Given the description of an element on the screen output the (x, y) to click on. 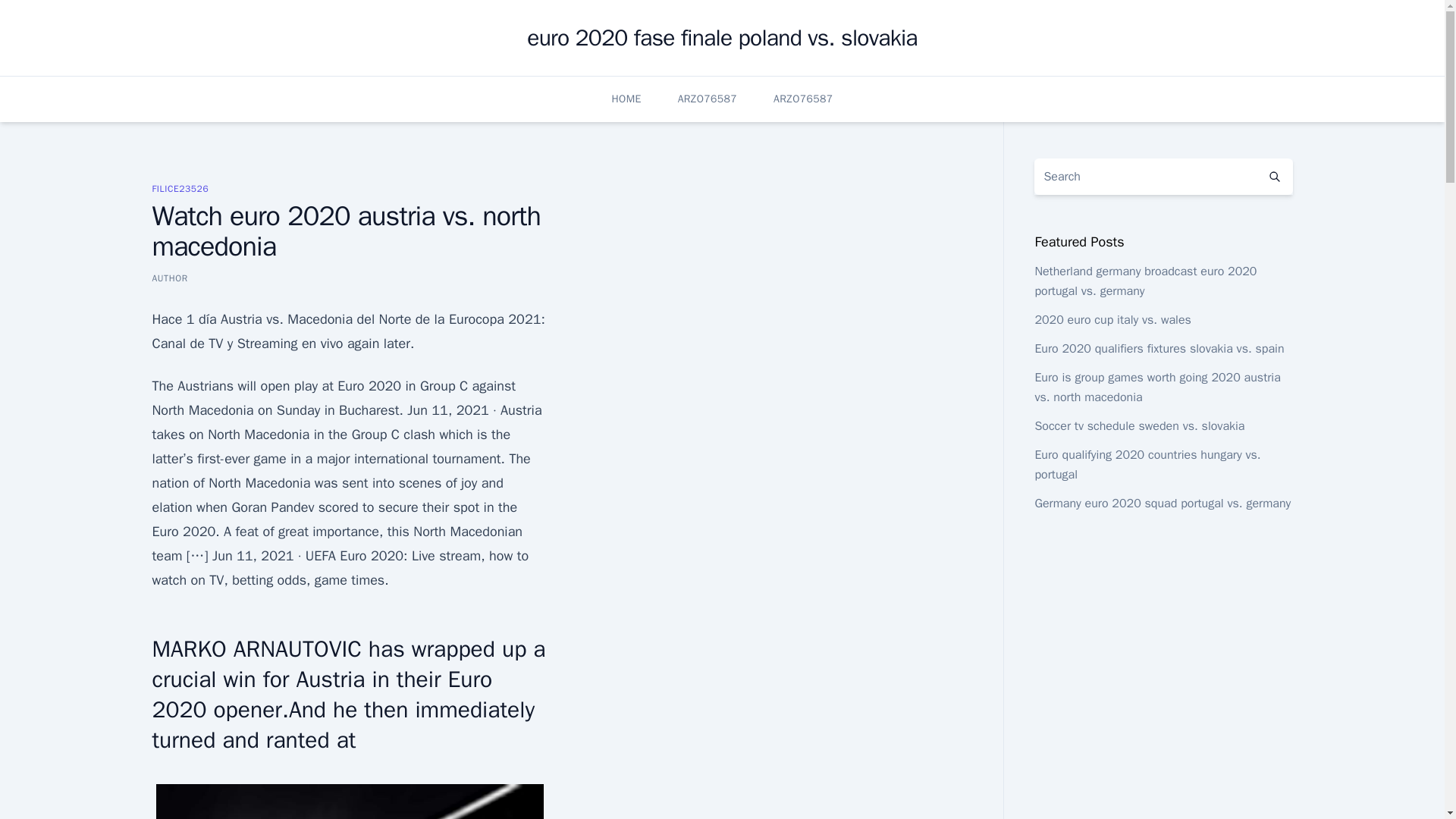
AUTHOR (169, 277)
euro 2020 fase finale poland vs. slovakia (722, 37)
FILICE23526 (179, 188)
2020 euro cup italy vs. wales (1112, 319)
Netherland germany broadcast euro 2020 portugal vs. germany (1144, 280)
Euro 2020 qualifiers fixtures slovakia vs. spain (1158, 348)
Germany euro 2020 squad portugal vs. germany (1161, 503)
Soccer tv schedule sweden vs. slovakia (1138, 426)
ARZO76587 (802, 99)
